Given the description of an element on the screen output the (x, y) to click on. 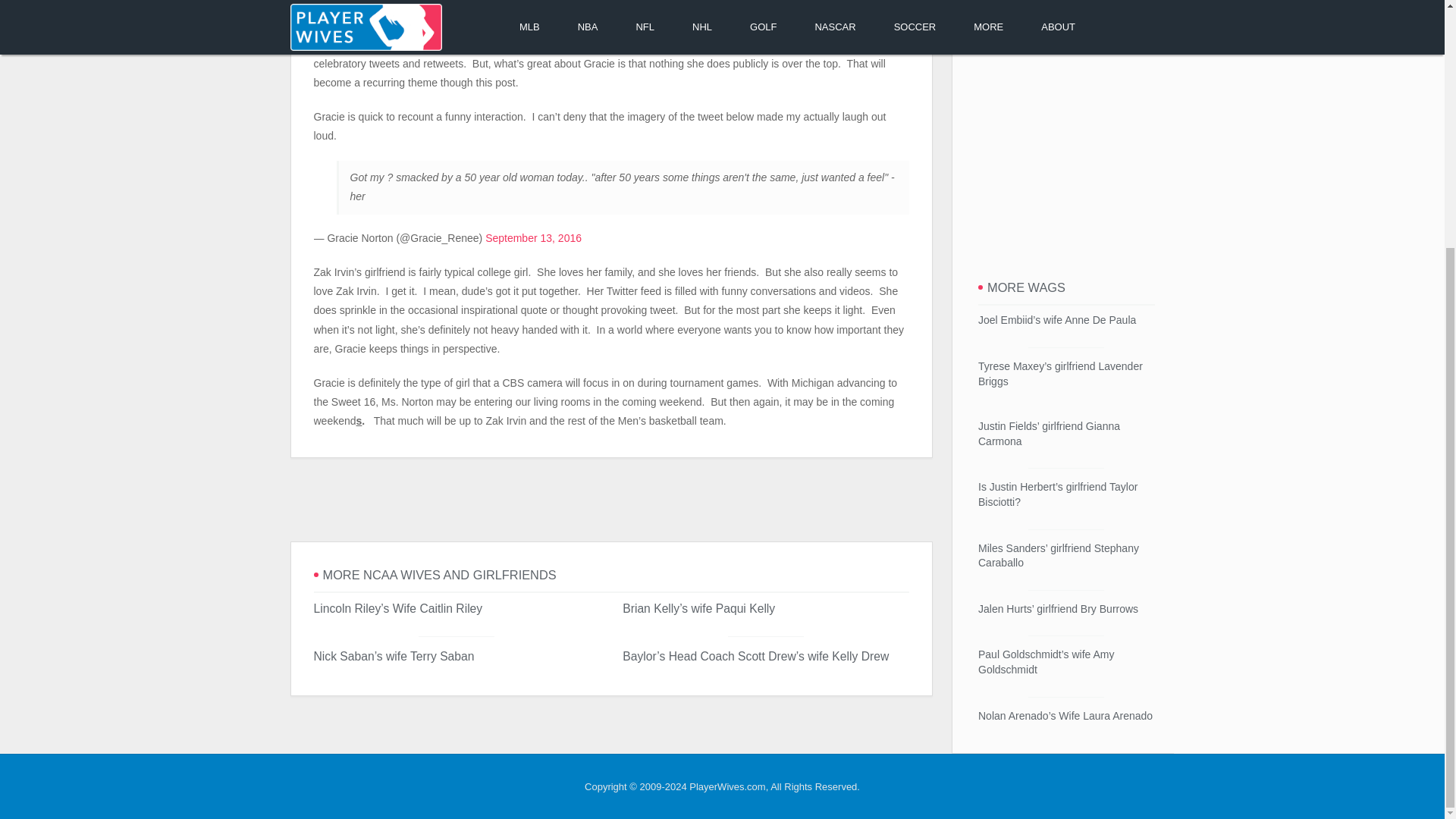
September 13, 2016 (532, 237)
Advertisement (610, 499)
